Given the description of an element on the screen output the (x, y) to click on. 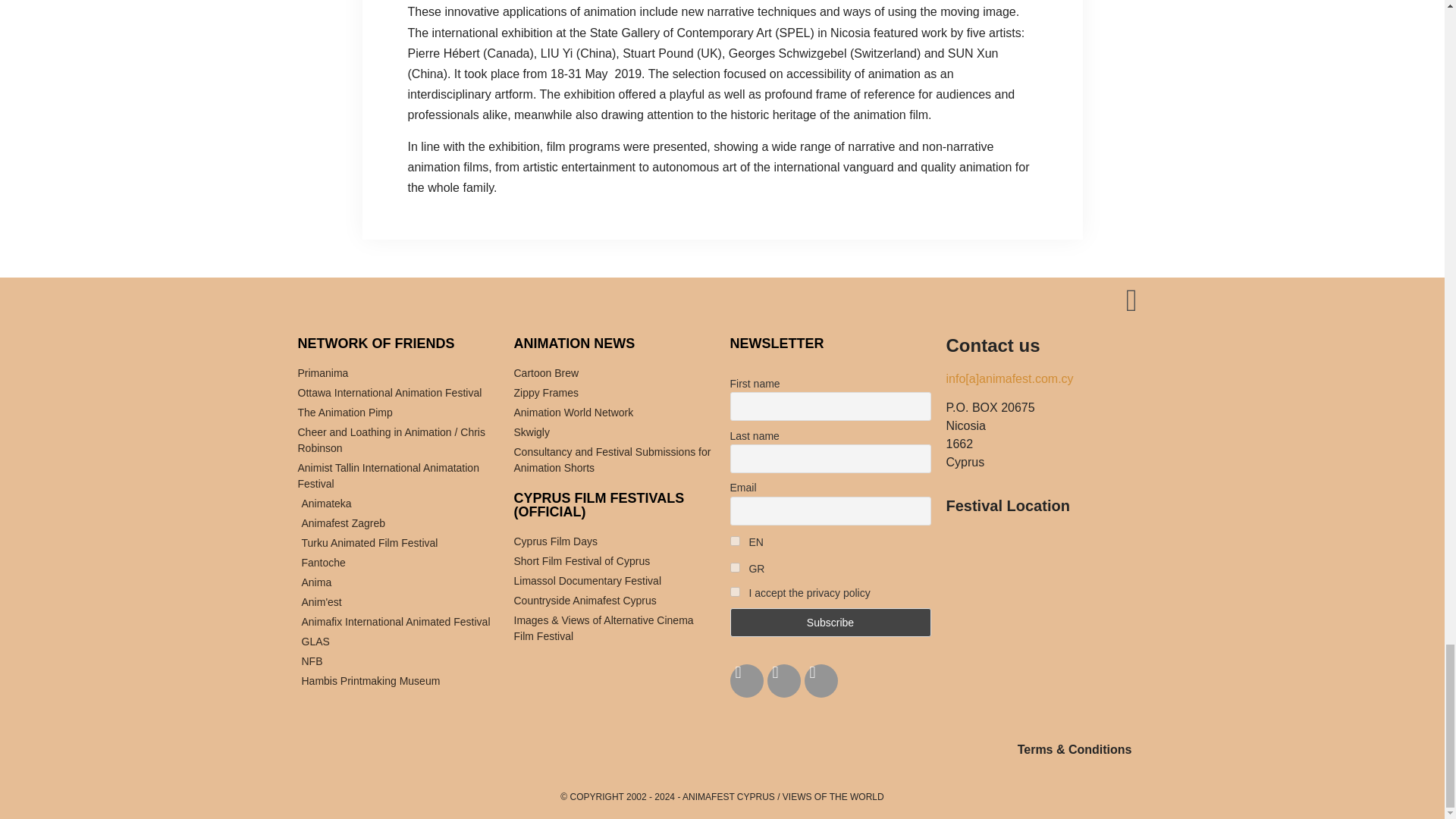
Subscribe (829, 622)
salamiou (1046, 622)
1 (734, 541)
2 (734, 567)
on (734, 592)
